Given the description of an element on the screen output the (x, y) to click on. 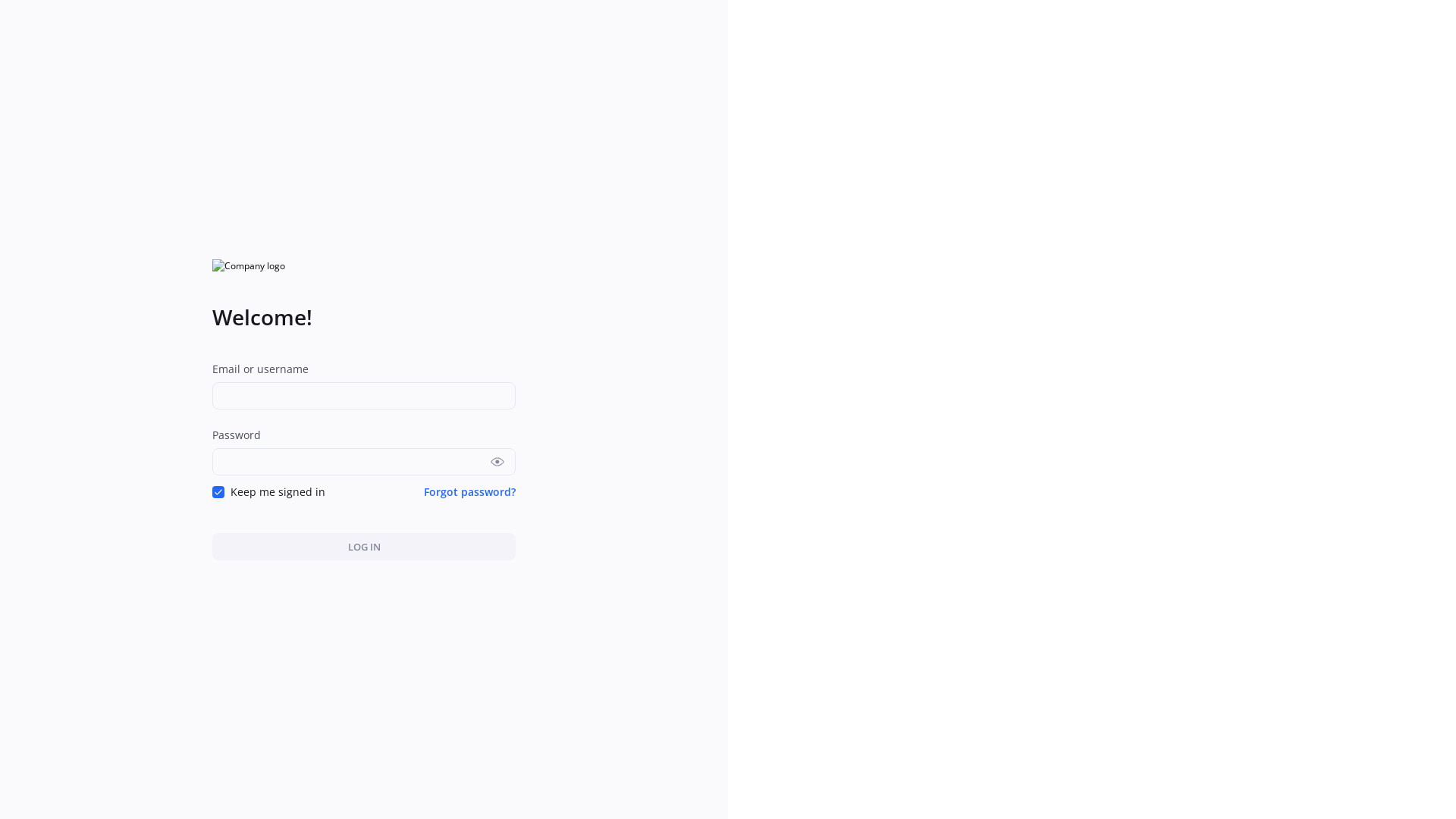
Forgot password? Element type: text (469, 491)
LOG IN Element type: text (363, 545)
